Given the description of an element on the screen output the (x, y) to click on. 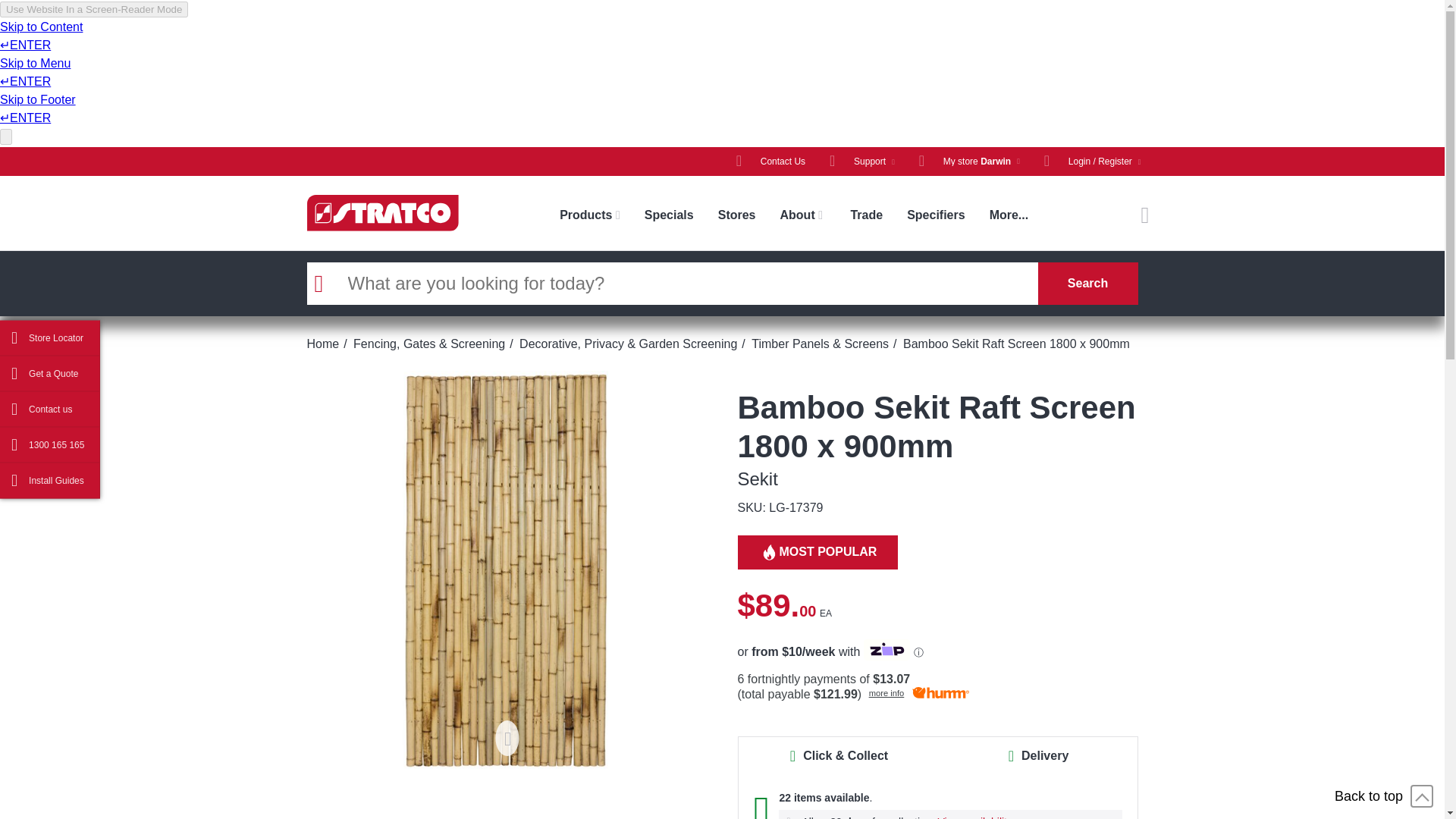
Products (589, 214)
Specials (668, 214)
About (802, 214)
Specifiers (935, 214)
Stores (737, 214)
Contact Us (769, 161)
Support (861, 161)
My store Darwin (969, 161)
More... (1008, 214)
Trade (866, 214)
